Given the description of an element on the screen output the (x, y) to click on. 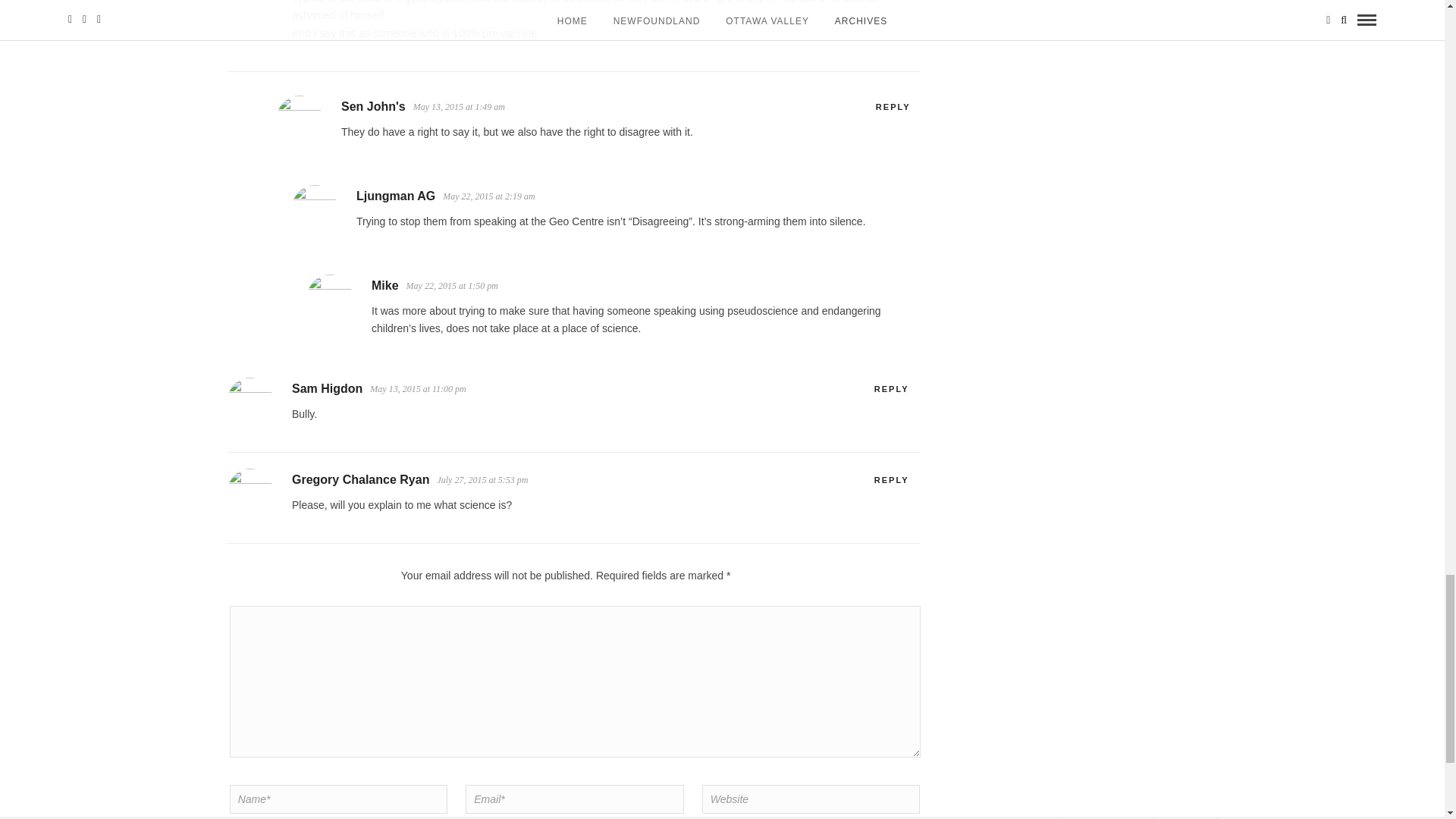
REPLY (891, 388)
REPLY (893, 106)
REPLY (891, 479)
